Given the description of an element on the screen output the (x, y) to click on. 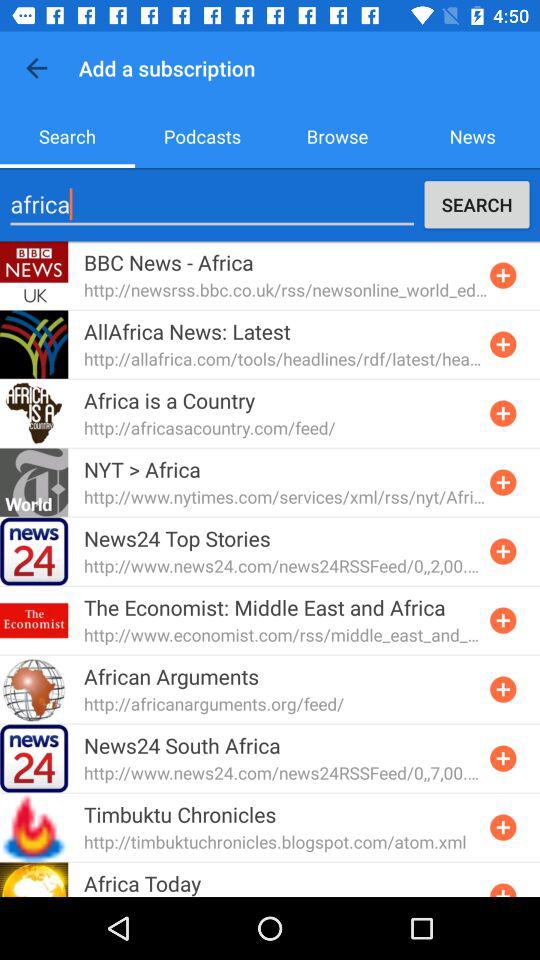
plus button to add subscription (503, 551)
